Given the description of an element on the screen output the (x, y) to click on. 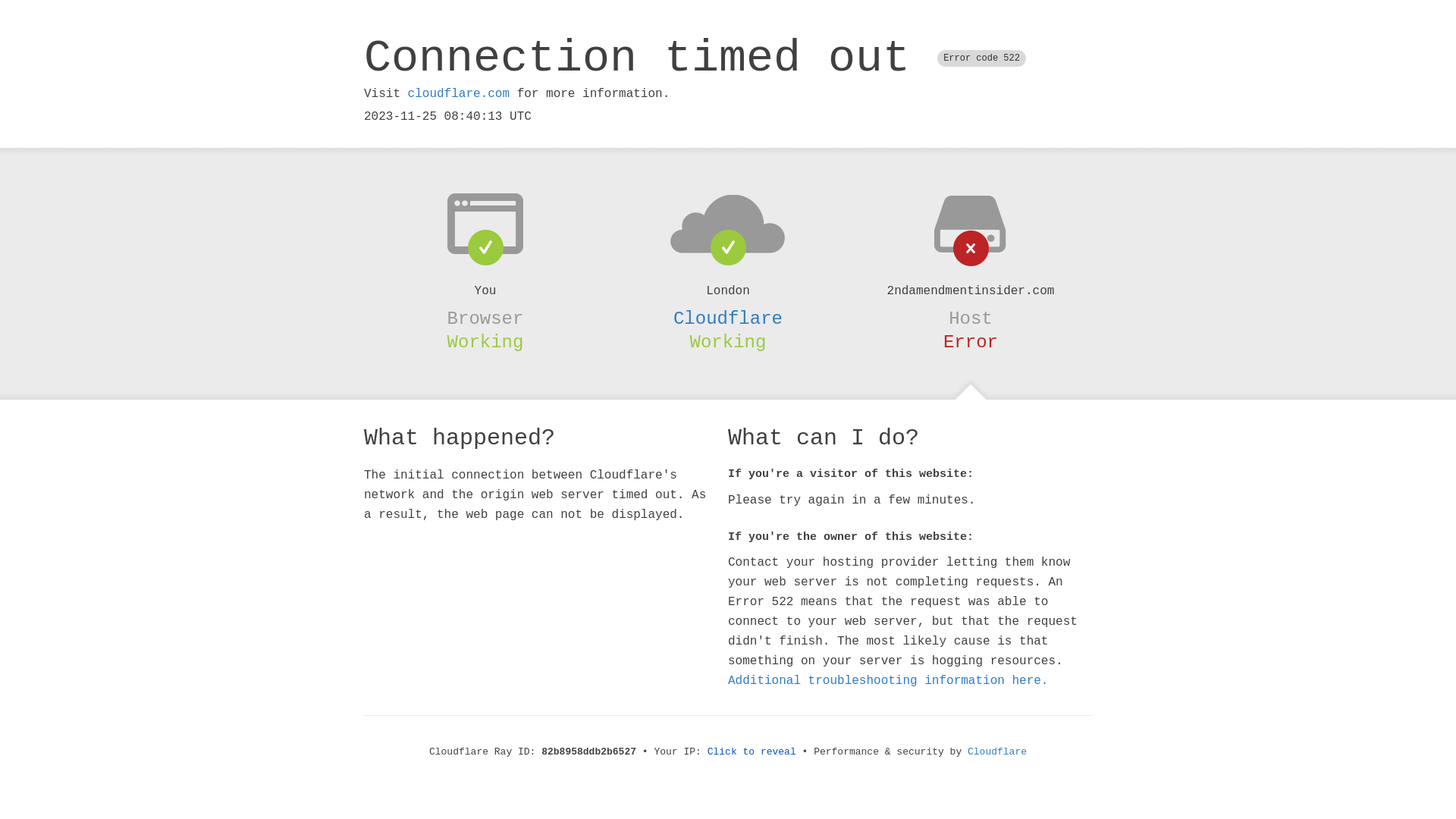
Additional troubleshooting information here. Element type: text (888, 680)
cloudflare.com Element type: text (458, 93)
Click to reveal Element type: text (751, 751)
Cloudflare Element type: text (996, 751)
Cloudflare Element type: text (727, 318)
